Given the description of an element on the screen output the (x, y) to click on. 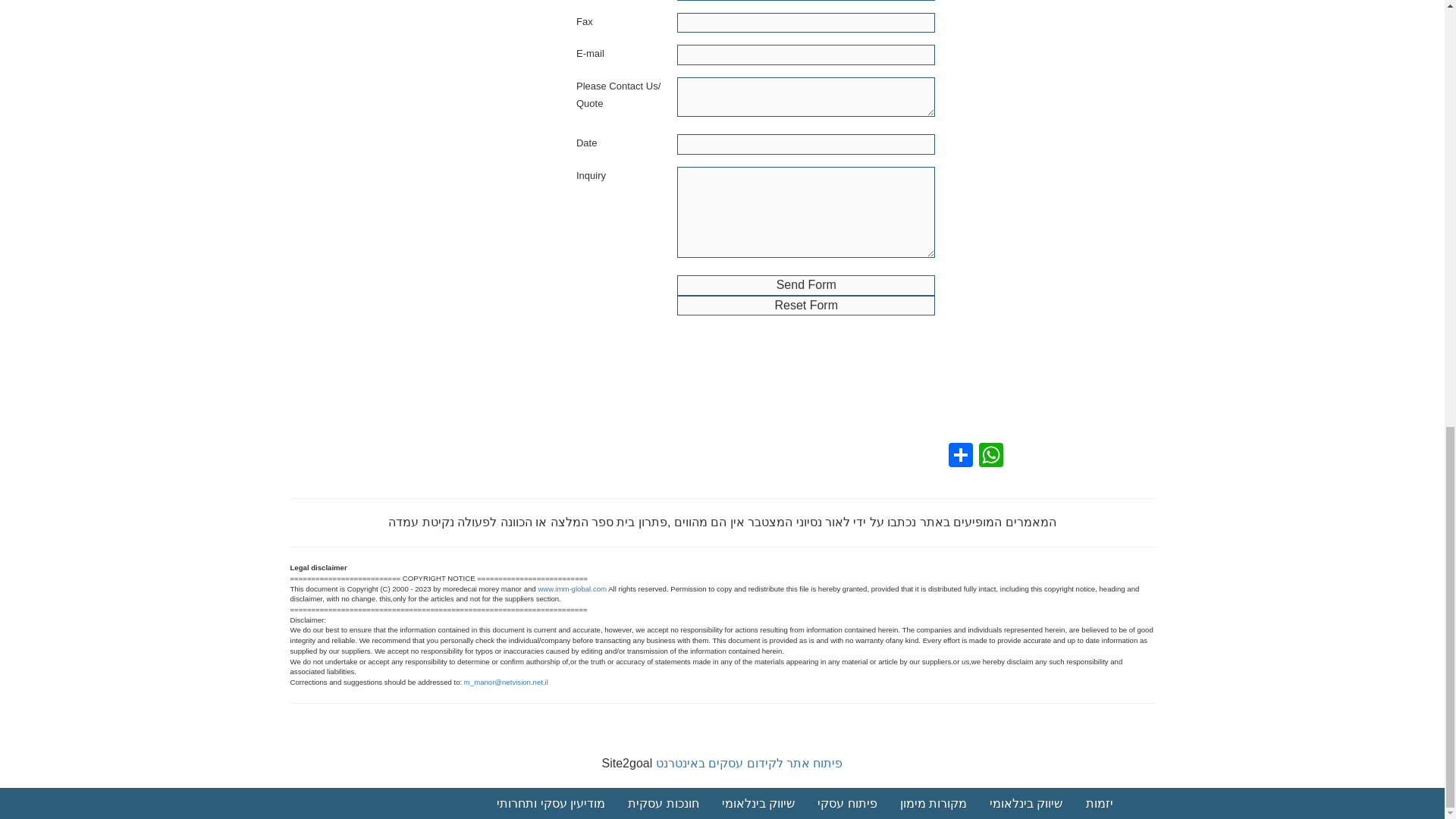
WhatsApp (990, 456)
Send Form (805, 285)
Reset Form (805, 305)
Send Form (805, 285)
